Given the description of an element on the screen output the (x, y) to click on. 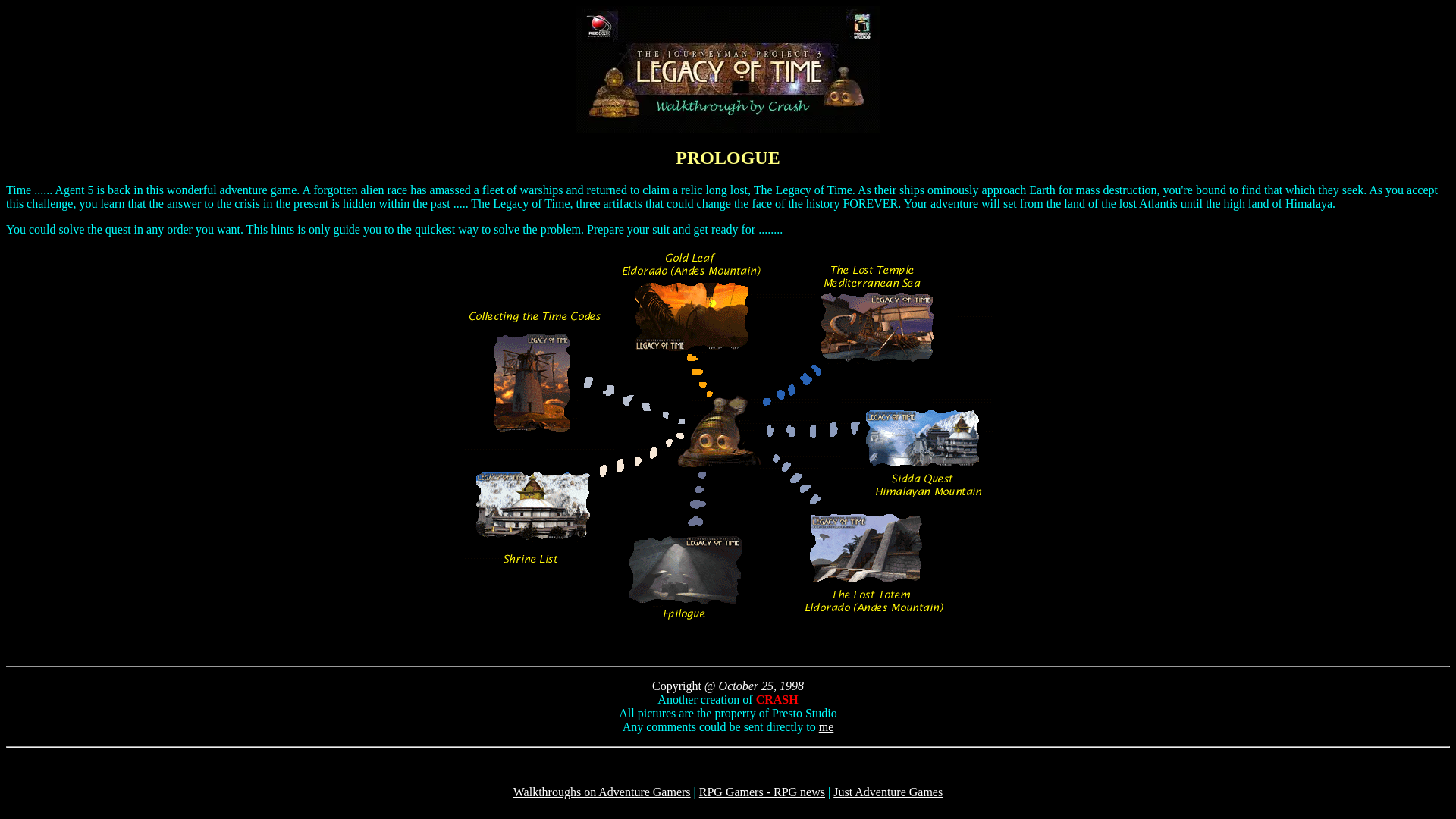
me (826, 726)
Just Adventure Games (887, 791)
Walkthroughs on Adventure Gamers (601, 791)
RPG Gamers - RPG news (761, 791)
